Given the description of an element on the screen output the (x, y) to click on. 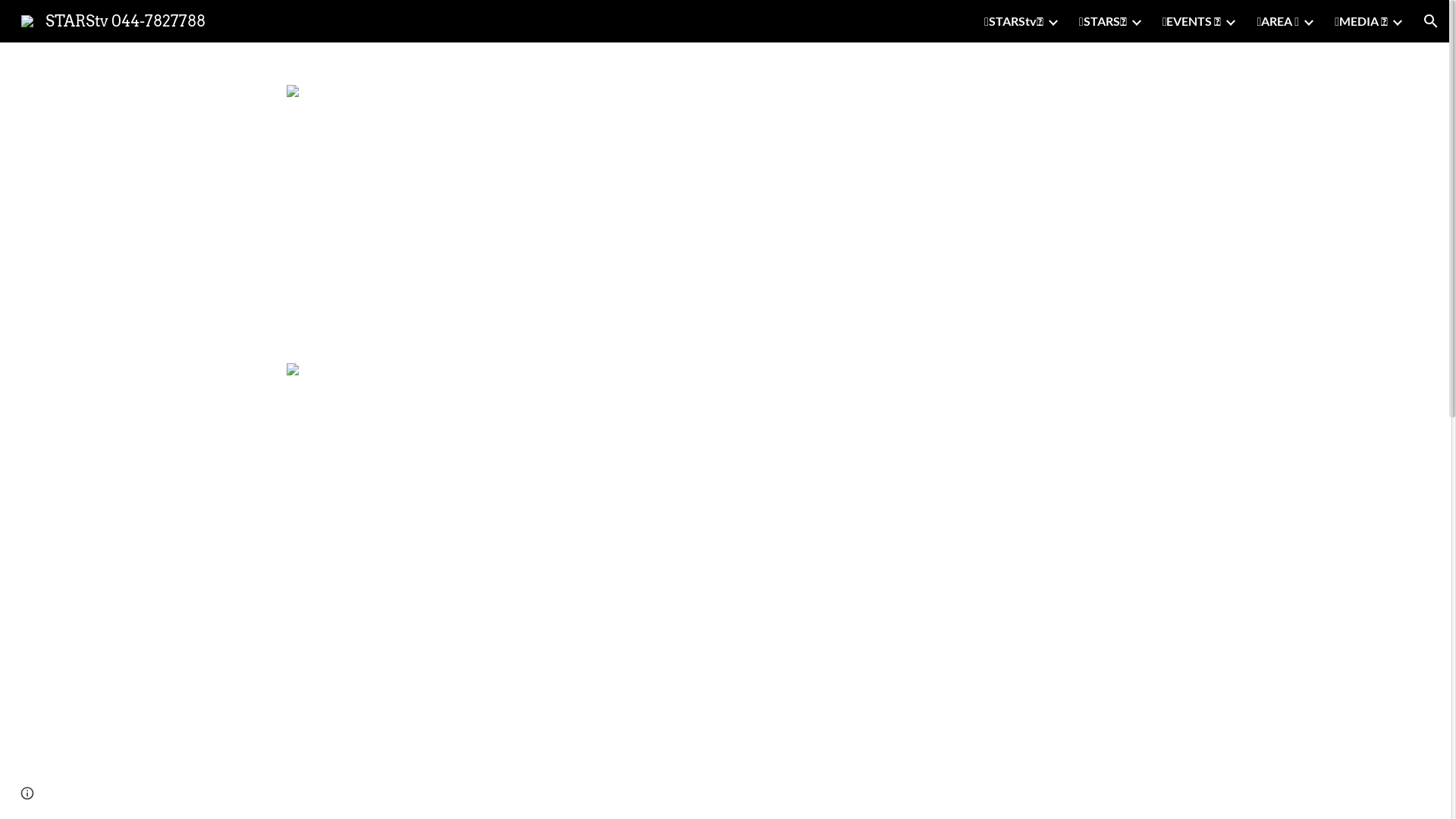
Expand/Collapse Element type: hover (1396, 20)
Expand/Collapse Element type: hover (1052, 20)
Expand/Collapse Element type: hover (1307, 20)
chemical Element type: text (809, 427)
Expand/Collapse Element type: hover (1135, 20)
animals Element type: text (1055, 445)
physical Element type: text (762, 427)
Expand/Collapse Element type: hover (1229, 20)
STARStv 044-7827788 Element type: text (113, 19)
